Given the description of an element on the screen output the (x, y) to click on. 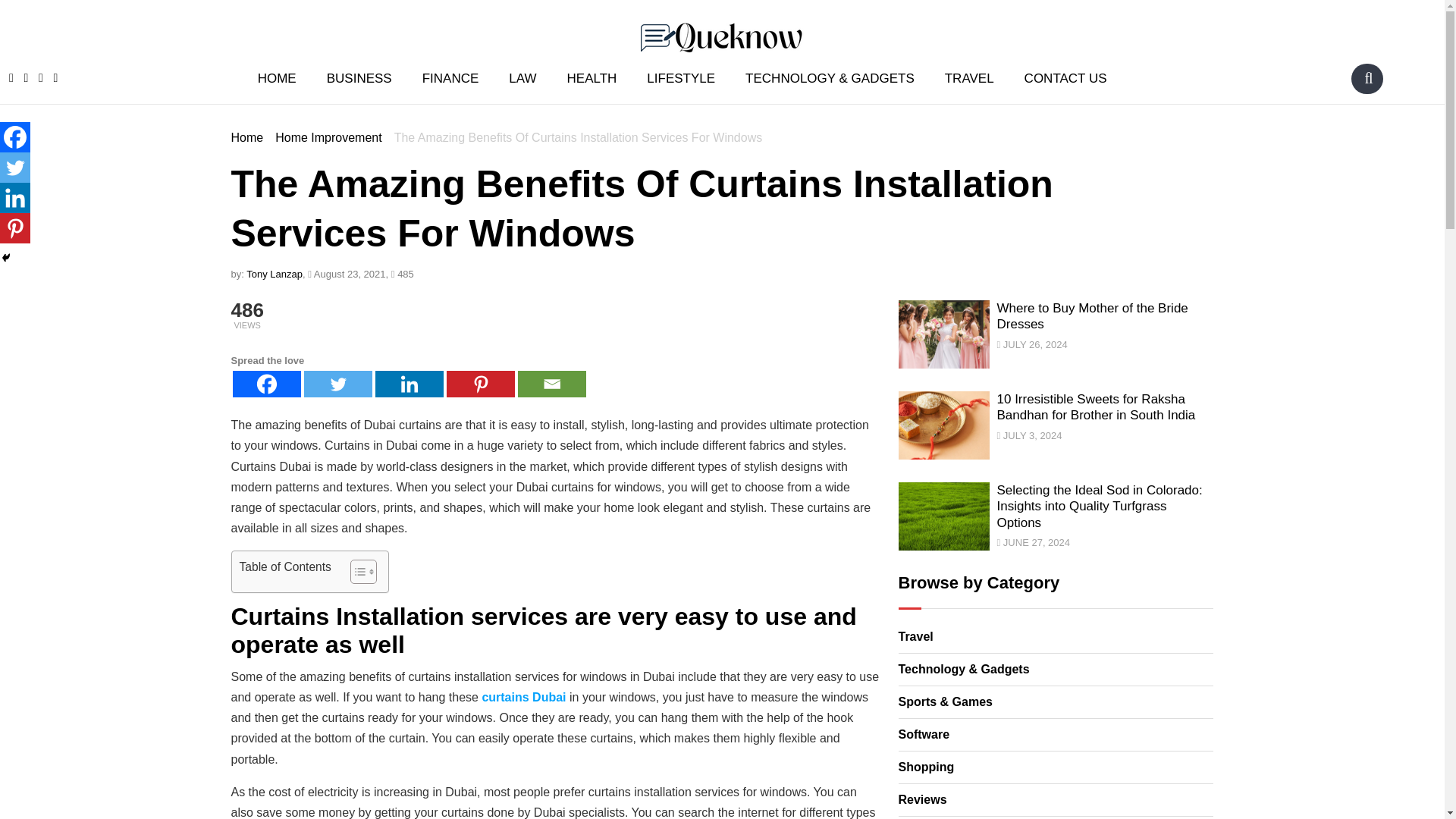
curtains Dubai (522, 697)
Twitter (15, 167)
Home Improvement (328, 137)
Twitter (336, 384)
485 (402, 274)
TRAVEL (969, 77)
Tony Lanzap (274, 274)
CONTACT US (1065, 77)
Email (550, 384)
Facebook (265, 384)
LAW (522, 77)
FINANCE (451, 77)
August 23, 2021 (346, 274)
Facebook (15, 137)
Linkedin (15, 197)
